Given the description of an element on the screen output the (x, y) to click on. 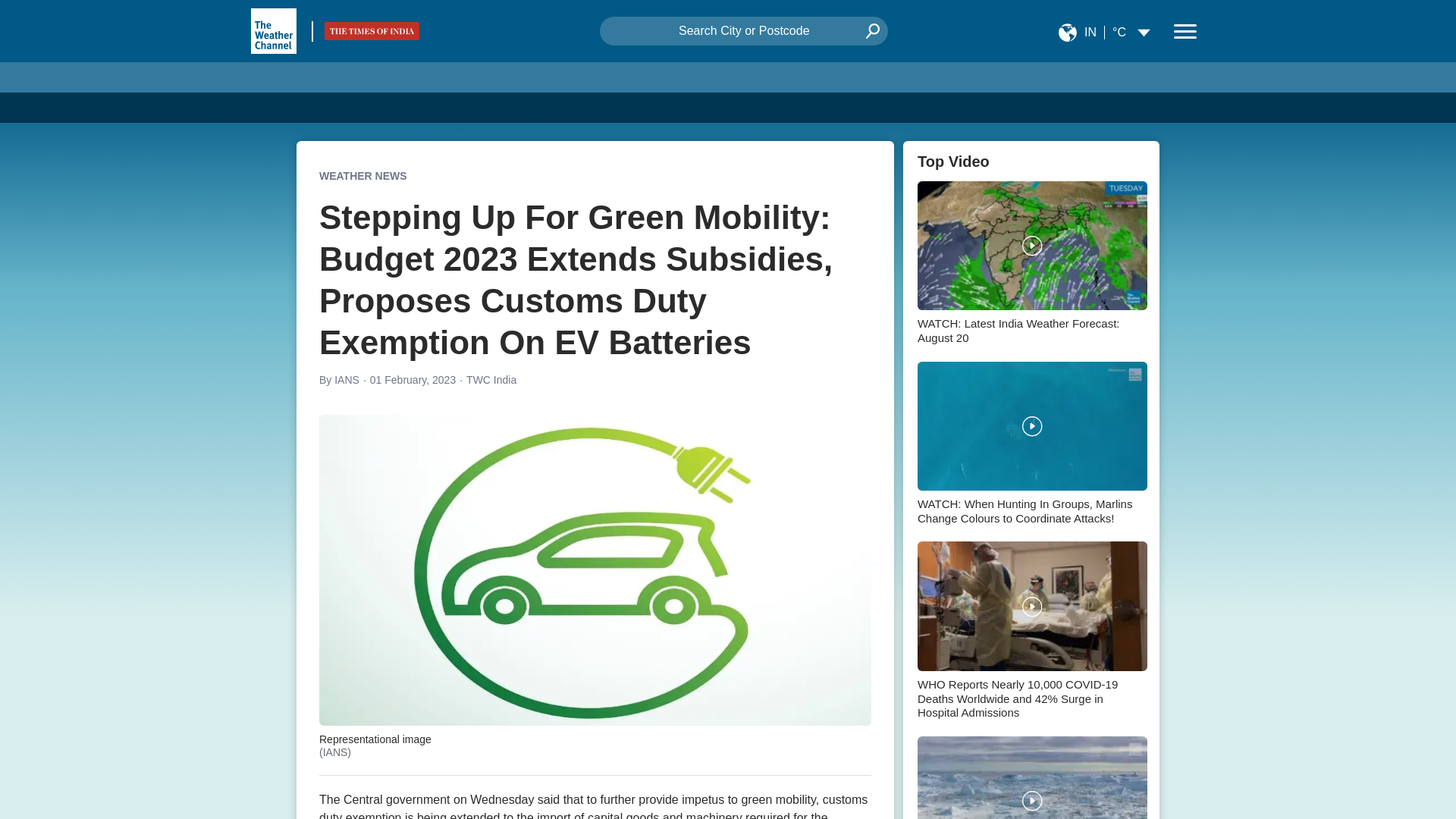
The Weather Channel (273, 31)
WATCH: Latest India Weather Forecast: August 20 (1032, 264)
The Weather Channel (273, 30)
